Given the description of an element on the screen output the (x, y) to click on. 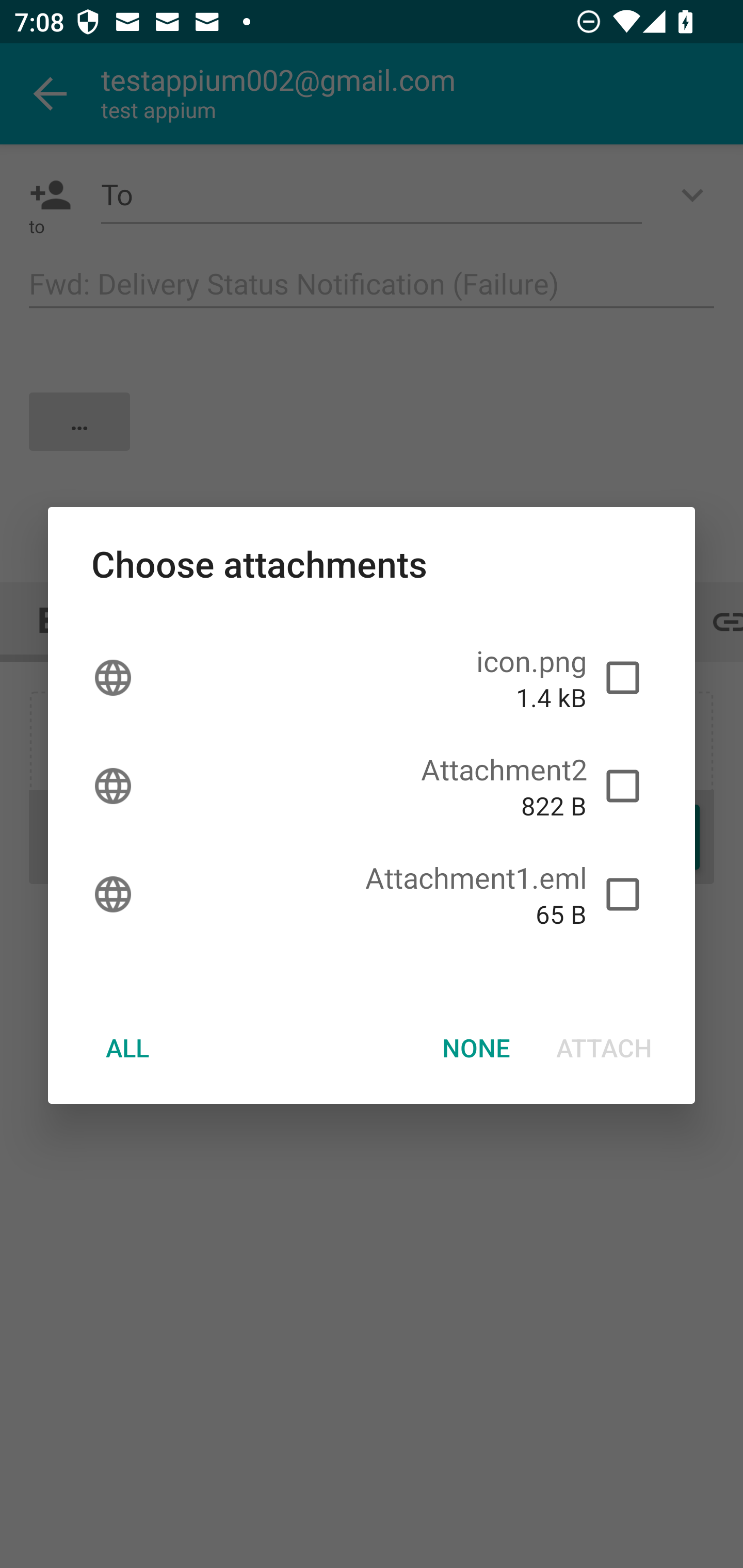
icon.png 1.4 kB (371, 678)
Attachment2 822 B (371, 786)
Attachment1.eml 65 B (371, 894)
ALL (127, 1047)
NONE (476, 1047)
ATTACH (603, 1047)
